Given the description of an element on the screen output the (x, y) to click on. 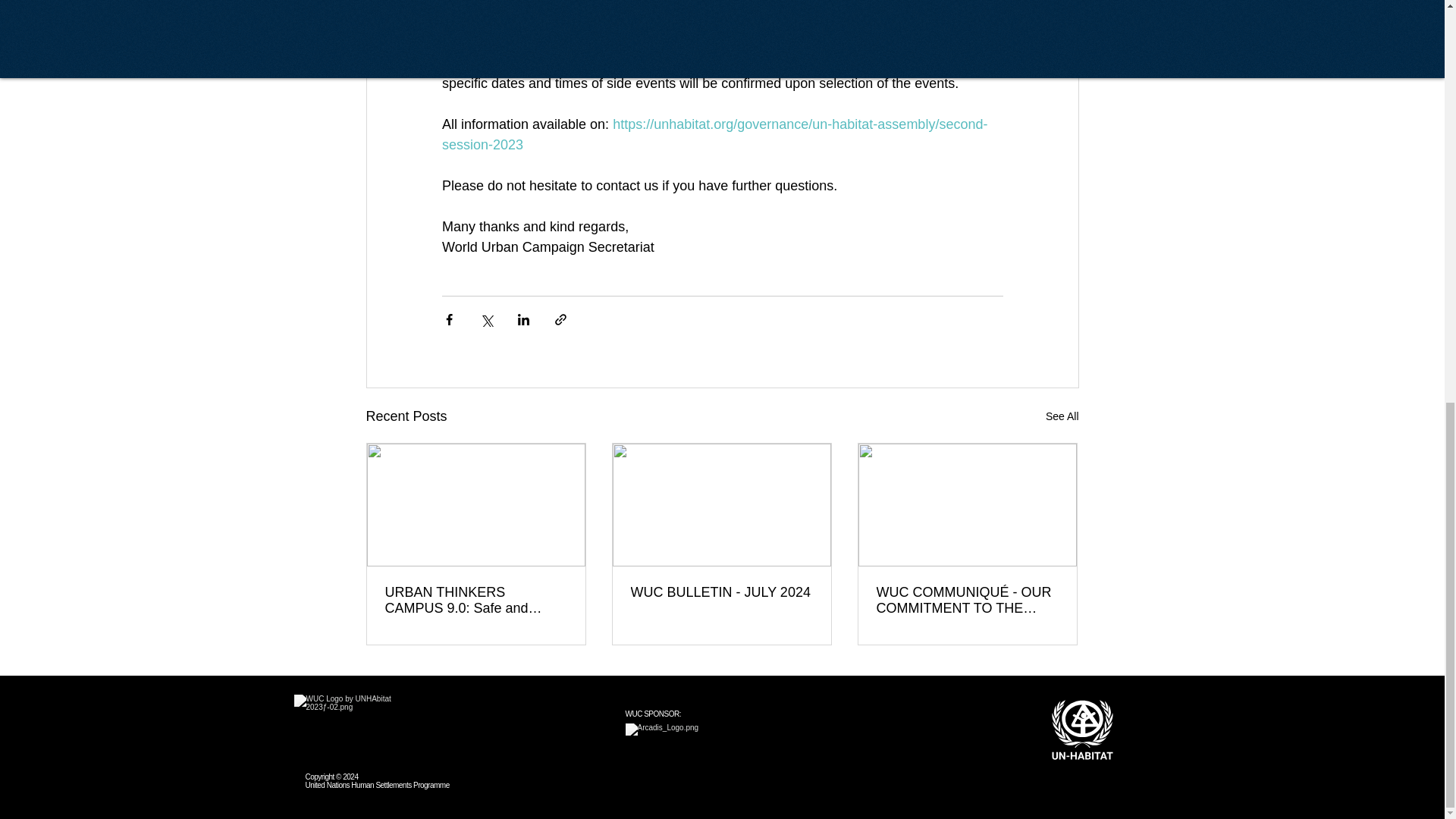
See All (1061, 416)
WUC BULLETIN - JULY 2024 (721, 592)
